Given the description of an element on the screen output the (x, y) to click on. 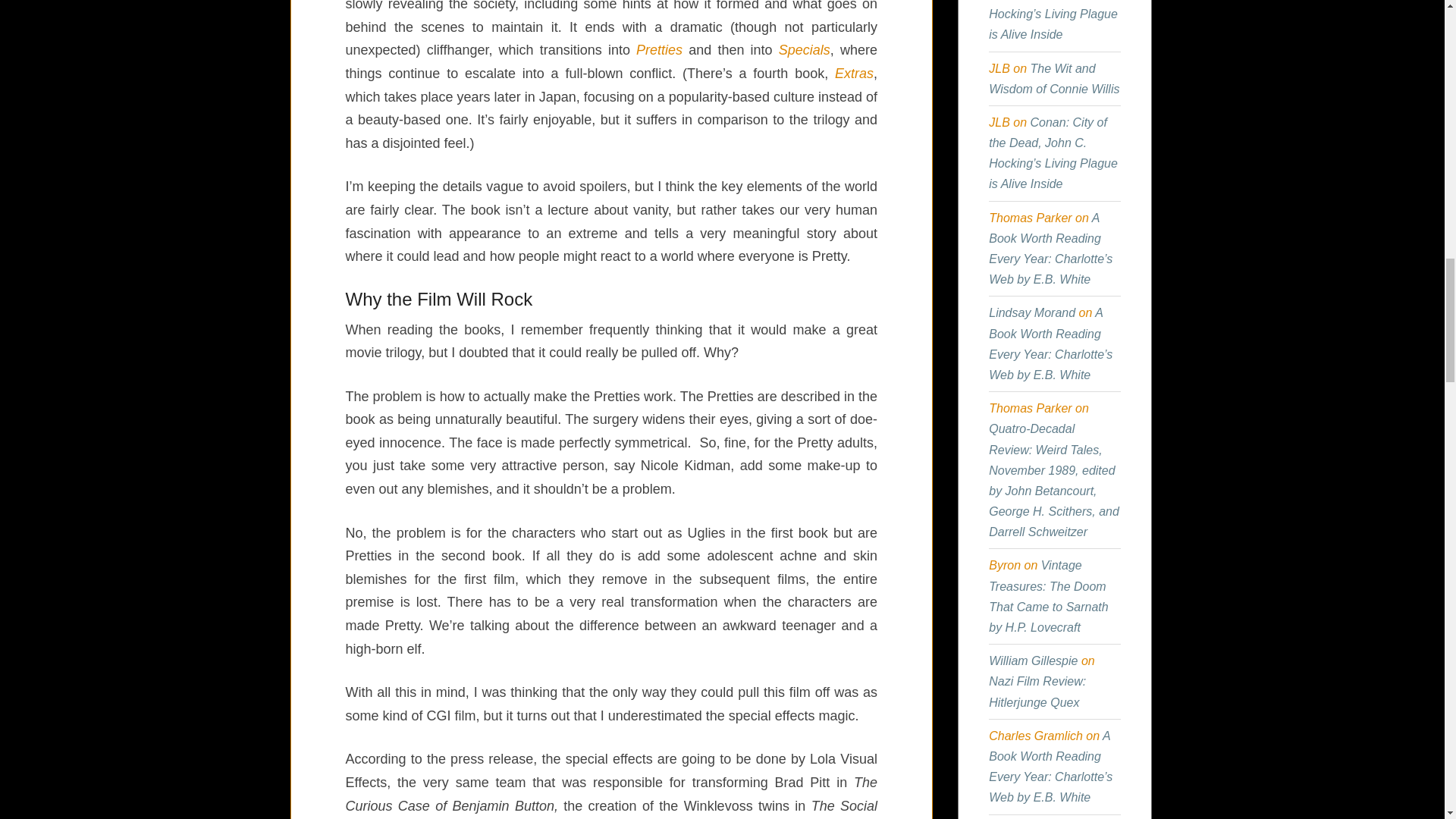
Specials (803, 49)
Extras (853, 73)
Pretties (659, 49)
